Given the description of an element on the screen output the (x, y) to click on. 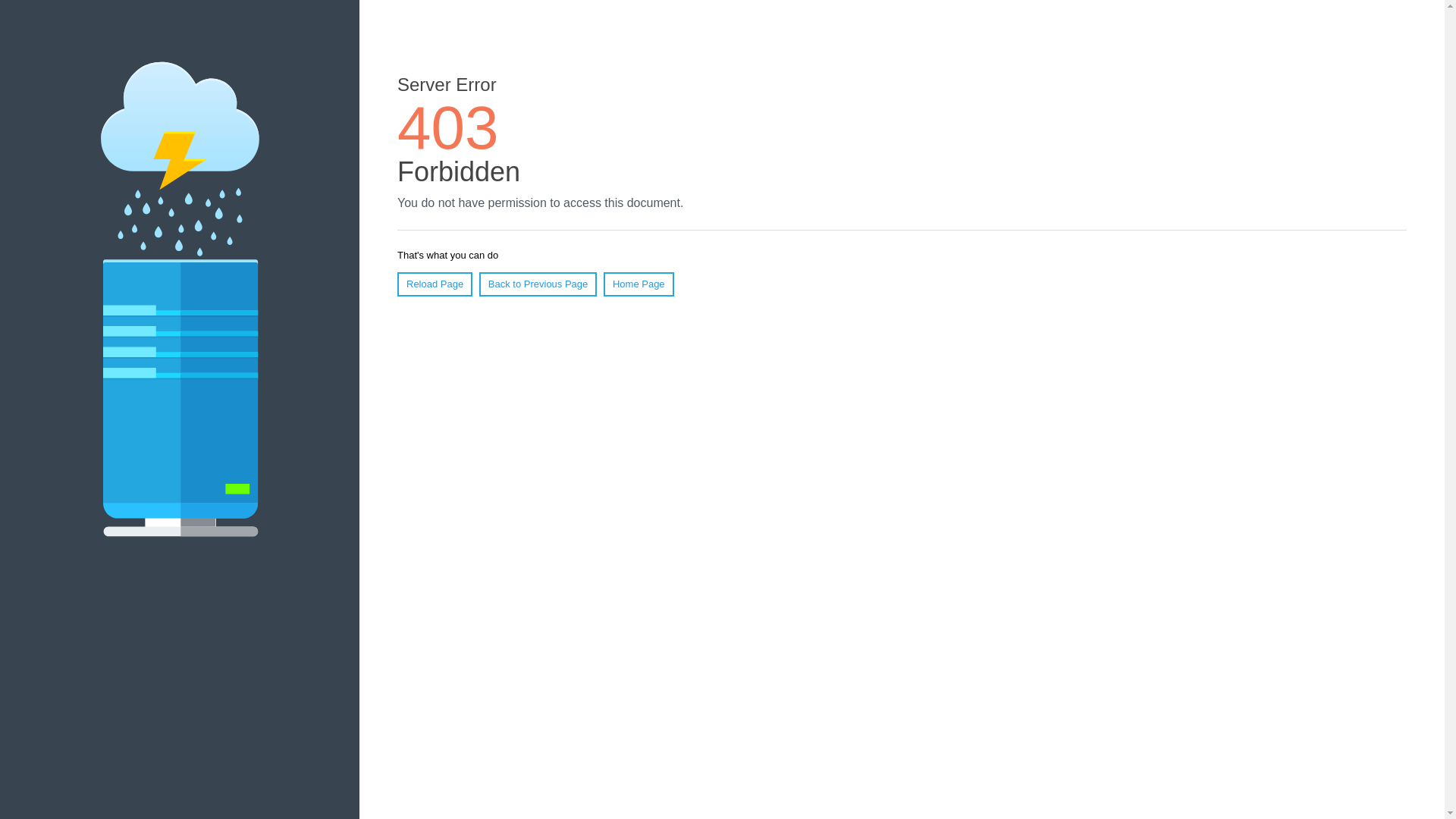
Reload Page (434, 283)
Home Page (639, 283)
Back to Previous Page (537, 283)
